Given the description of an element on the screen output the (x, y) to click on. 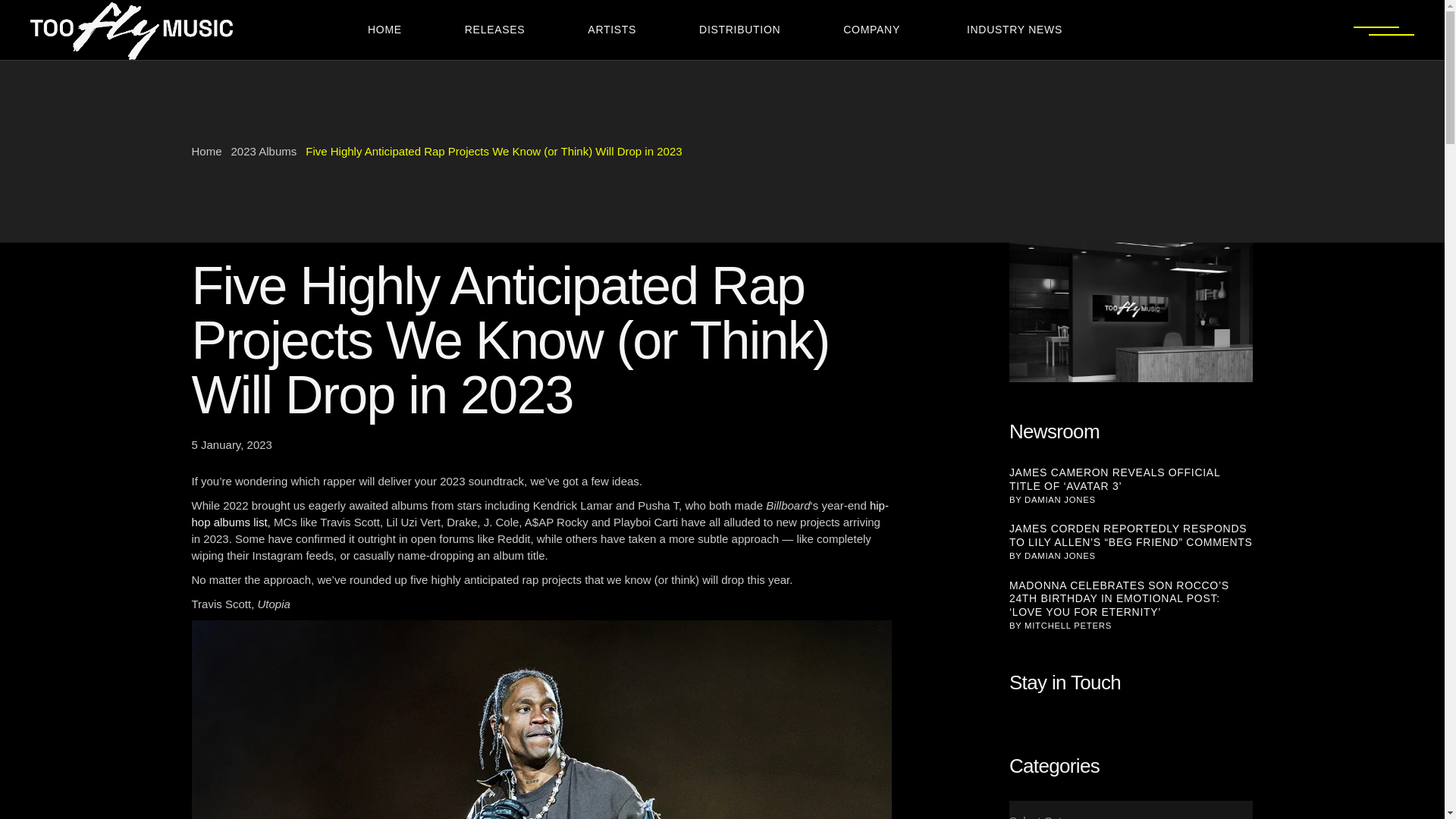
5 January, 2023 (230, 444)
DISTRIBUTION (746, 29)
COMPANY (878, 29)
hip-hop albums list (539, 513)
Home (205, 151)
ARTISTS (619, 29)
RELEASES (502, 29)
Title Text:  (230, 444)
INDUSTRY NEWS (1019, 29)
2023 Albums (264, 151)
